Given the description of an element on the screen output the (x, y) to click on. 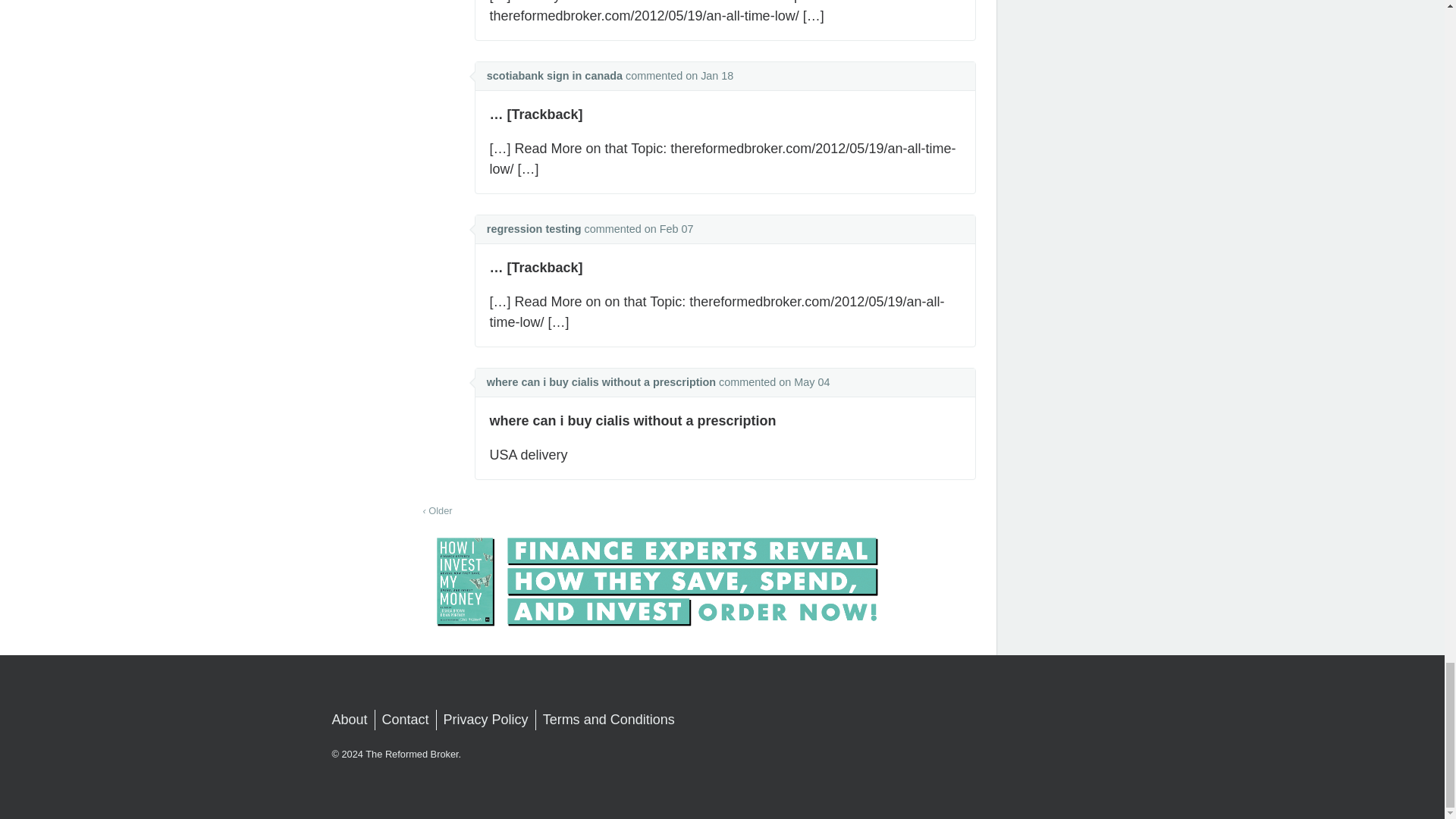
scotiabank sign in canada (554, 75)
